Given the description of an element on the screen output the (x, y) to click on. 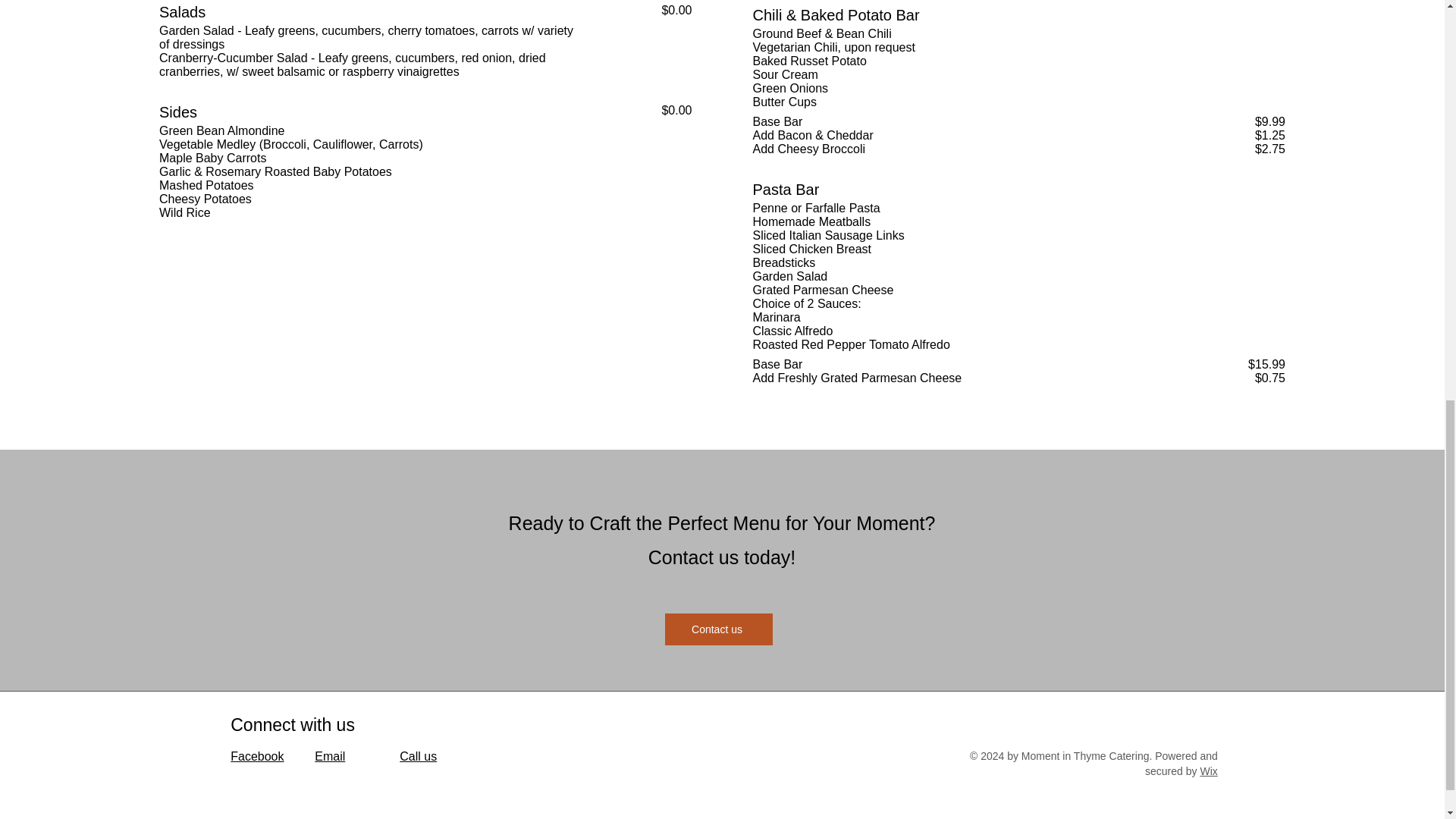
Facebook (256, 756)
Email (329, 756)
Contact us (717, 629)
Call us (417, 756)
Wix (1208, 770)
